Given the description of an element on the screen output the (x, y) to click on. 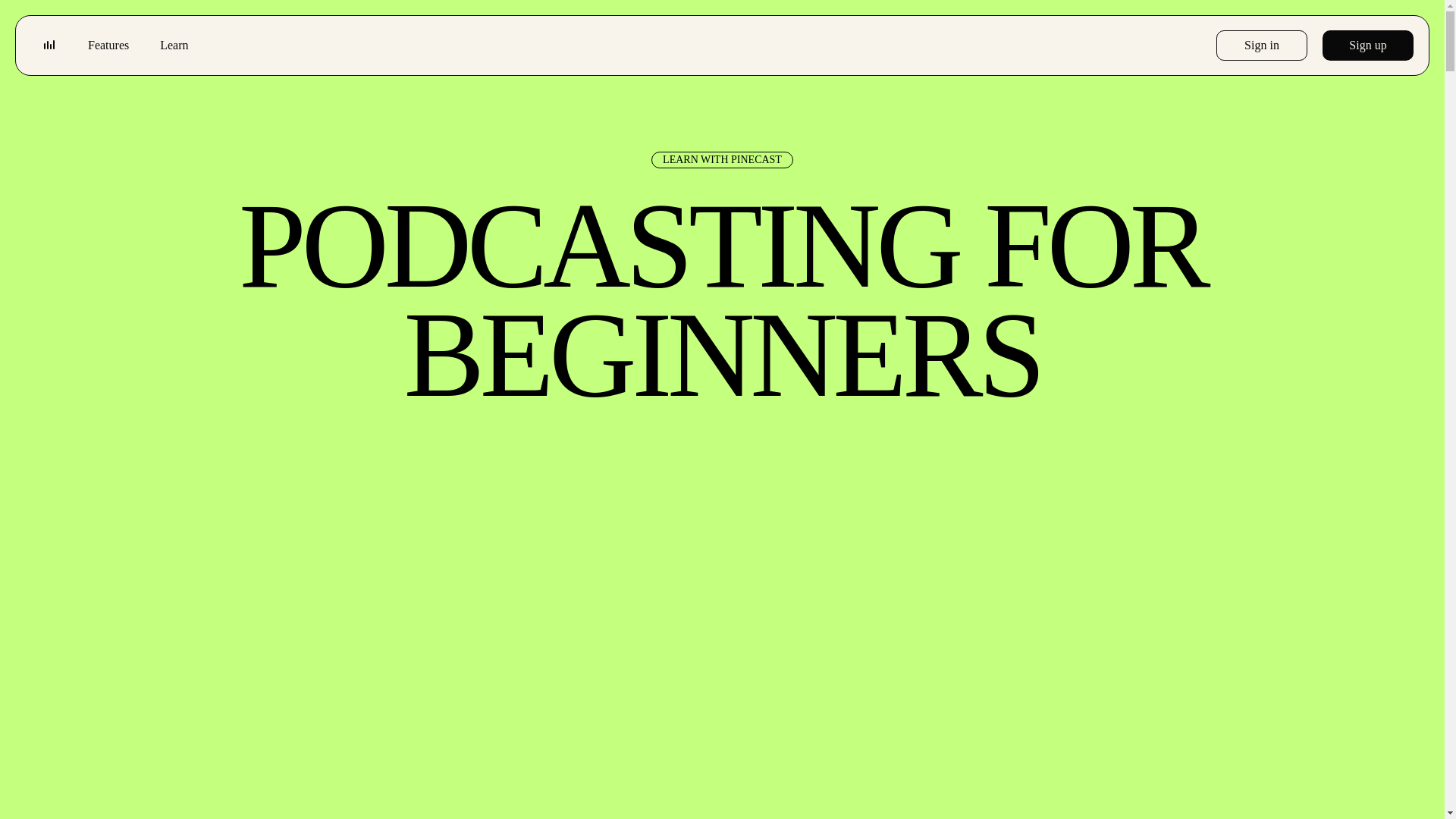
Features (108, 45)
Sign in (1261, 45)
Learn (173, 45)
Sign up (1367, 45)
